Given the description of an element on the screen output the (x, y) to click on. 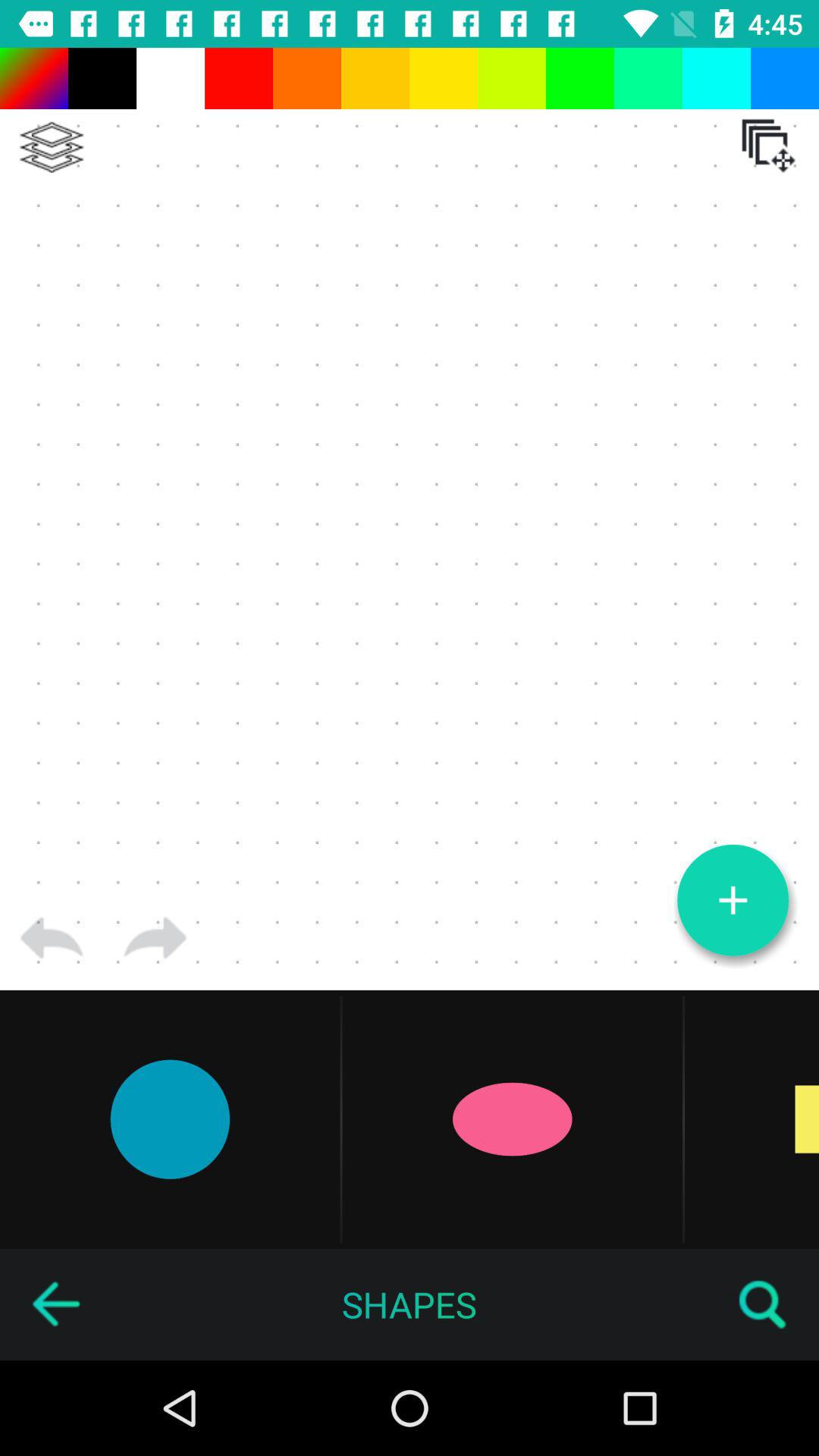
undo an undo (155, 938)
